Given the description of an element on the screen output the (x, y) to click on. 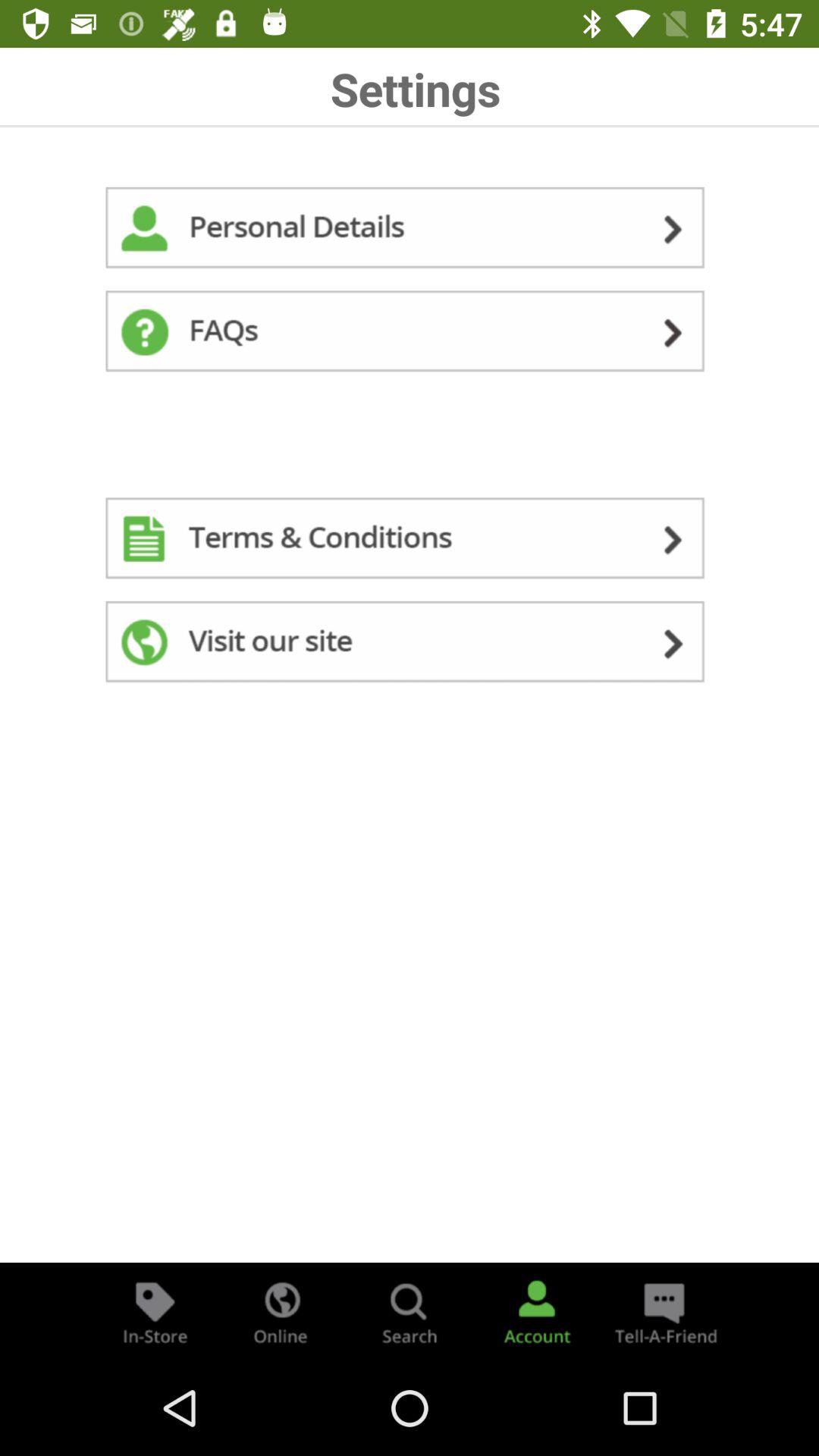
personal data (409, 230)
